Given the description of an element on the screen output the (x, y) to click on. 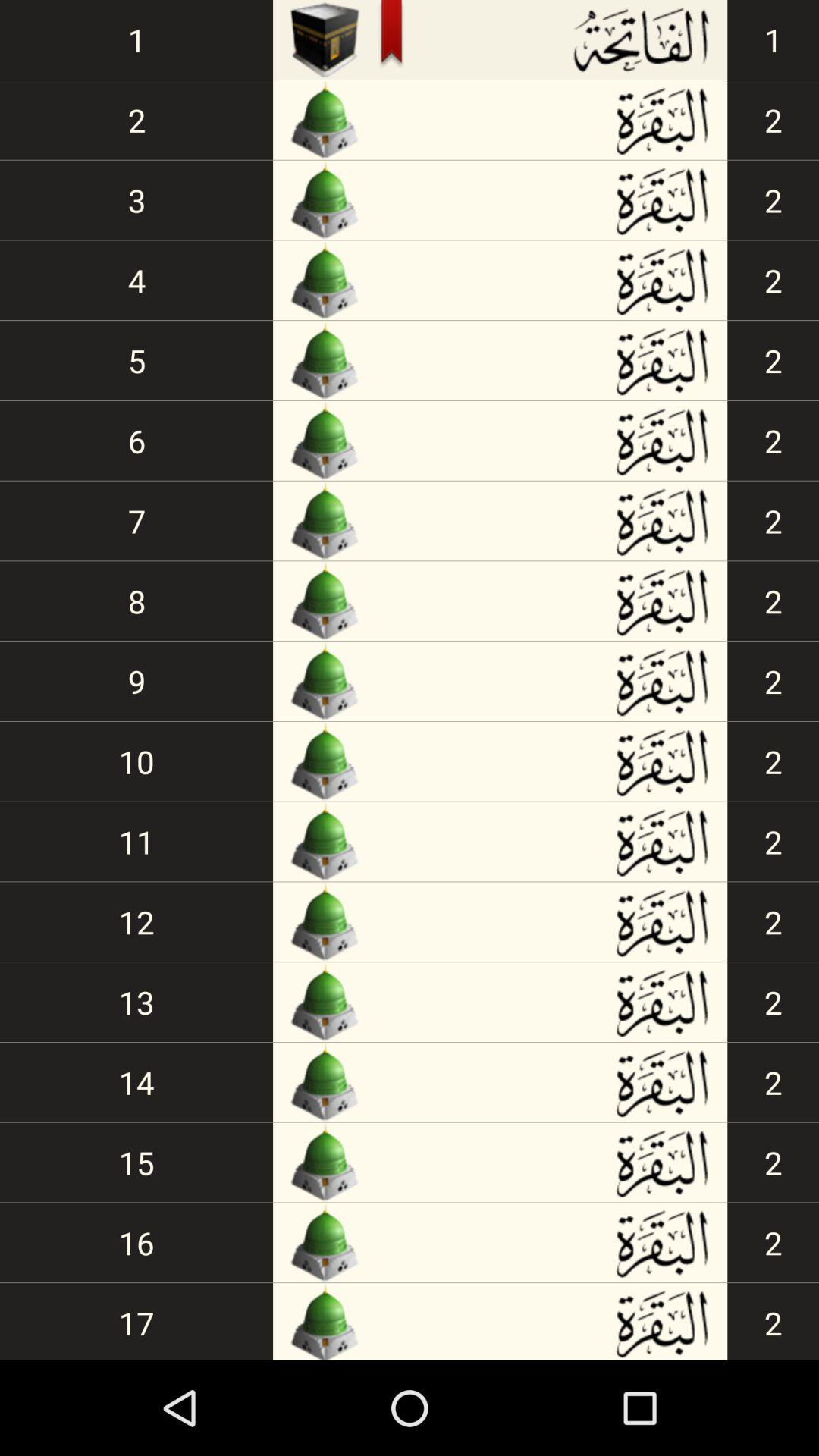
launch the icon below 13 icon (136, 1082)
